Given the description of an element on the screen output the (x, y) to click on. 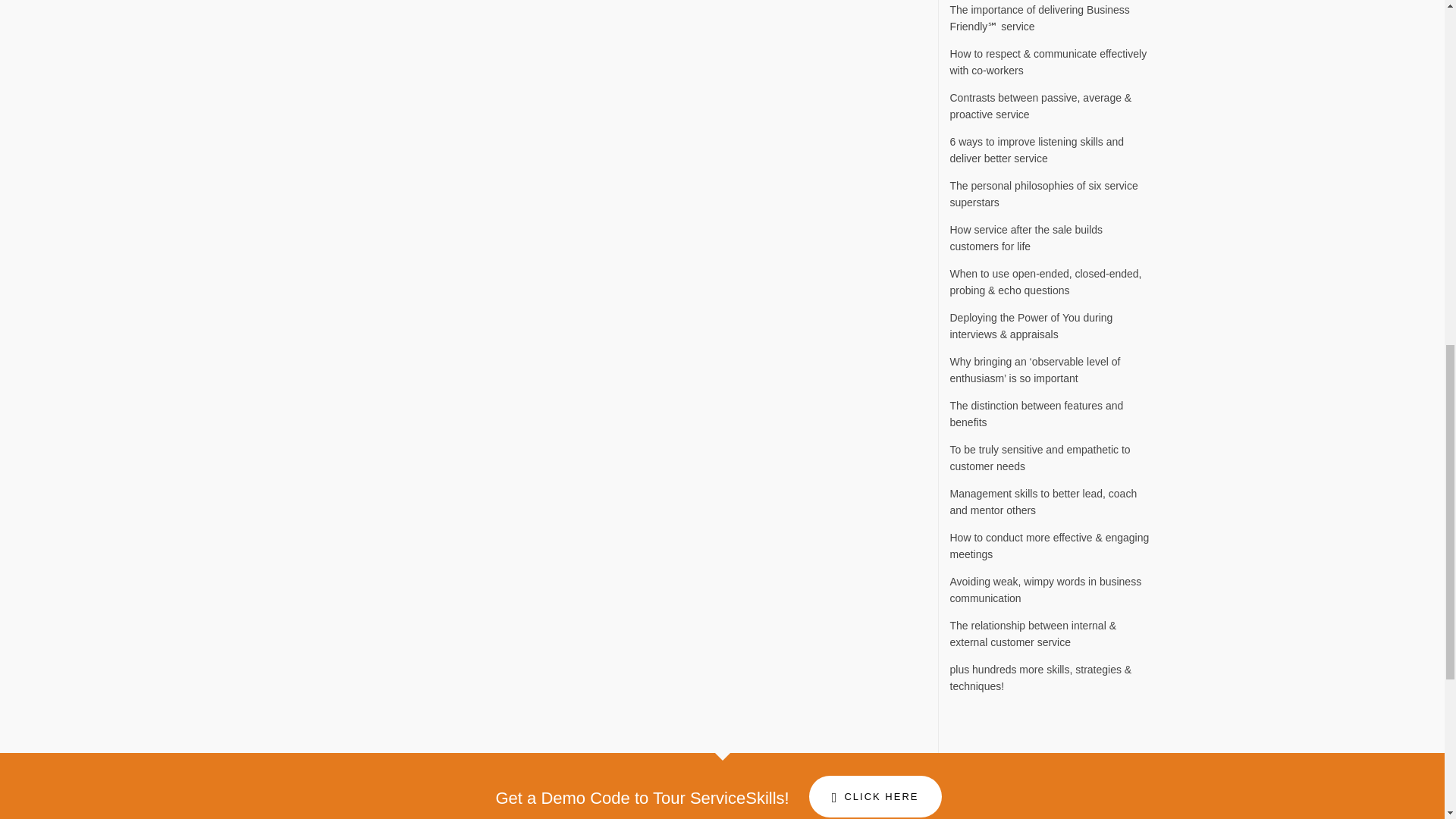
CLICK HERE (875, 796)
